Given the description of an element on the screen output the (x, y) to click on. 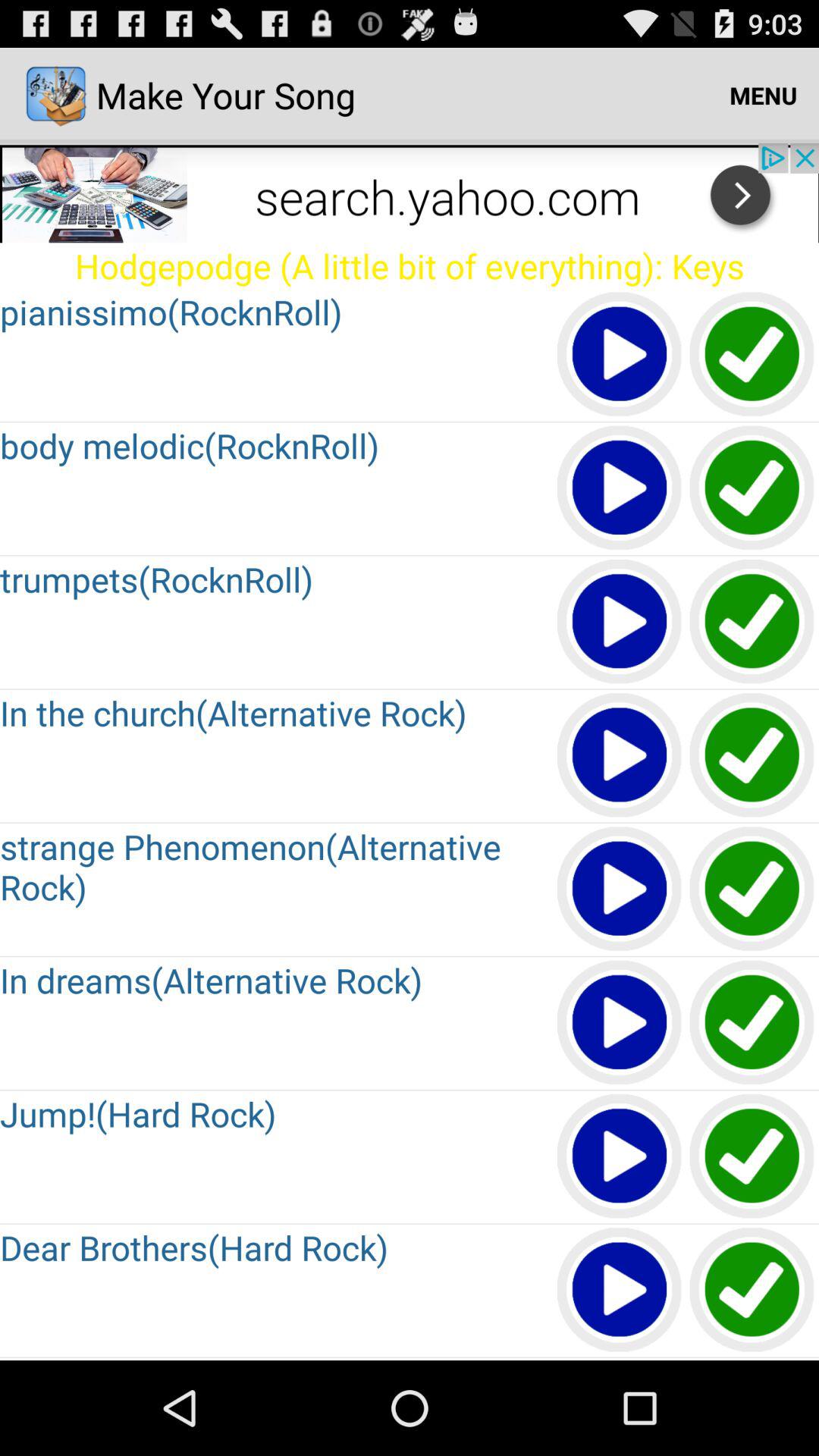
song is ready after click (752, 354)
